Given the description of an element on the screen output the (x, y) to click on. 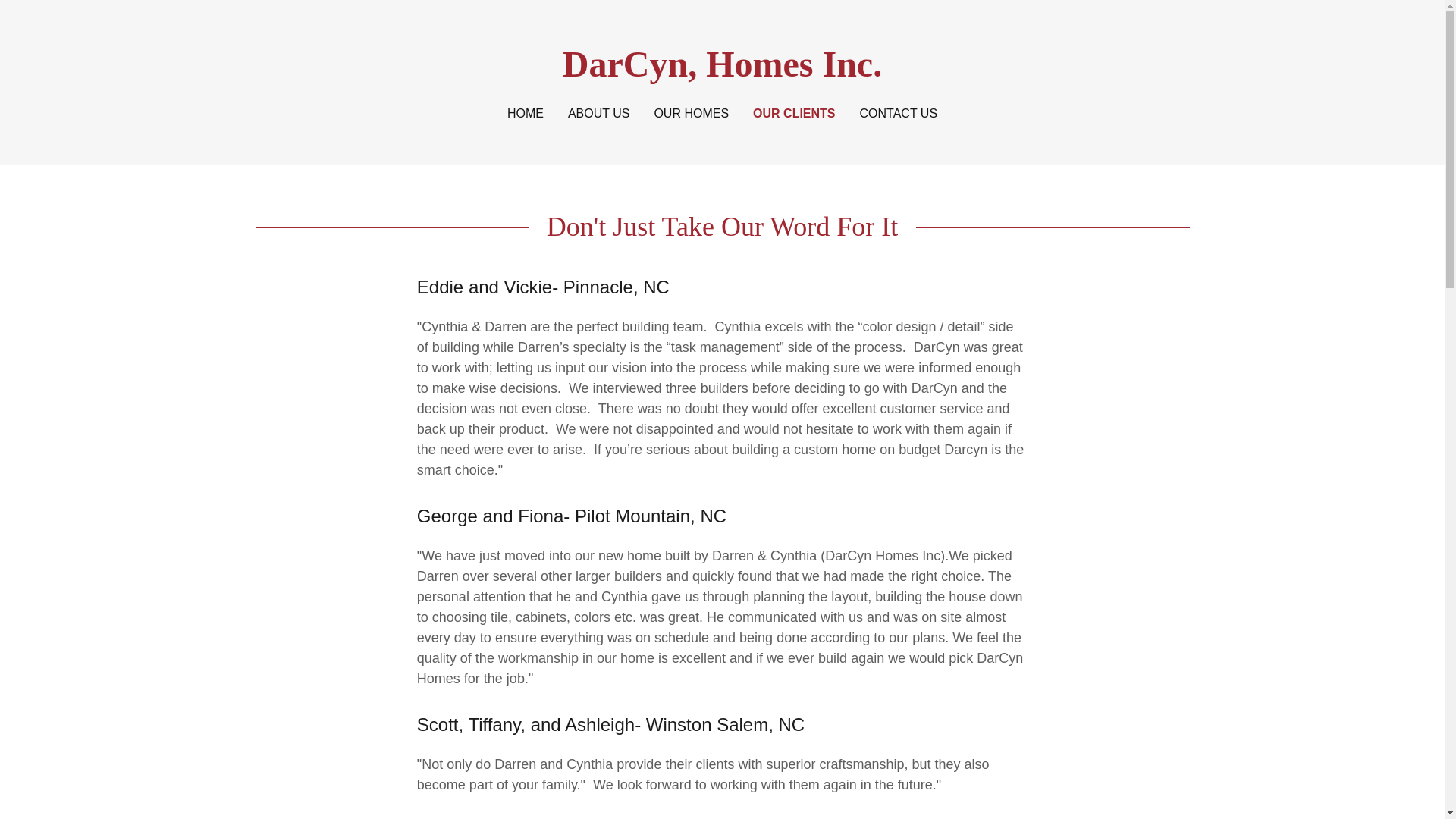
OUR CLIENTS (793, 113)
DarCyn, Homes Inc. (721, 71)
OUR HOMES (691, 113)
ABOUT US (598, 113)
CONTACT US (899, 113)
HOME (525, 113)
DarCyn, Homes Inc. (721, 71)
